Given the description of an element on the screen output the (x, y) to click on. 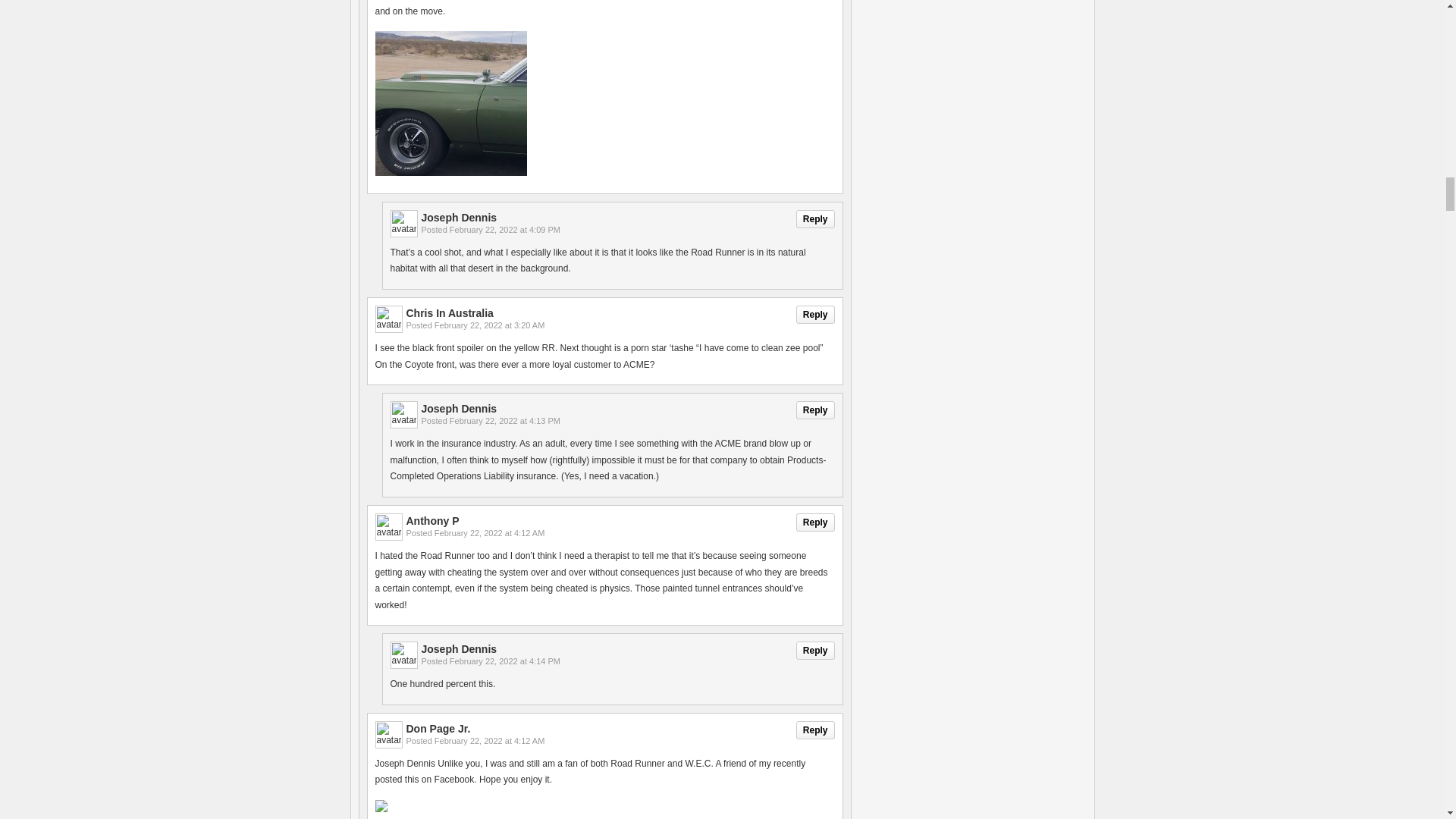
2022-02-22T04:12:35-08:00 (488, 740)
2022-02-22T04:12:30-08:00 (488, 532)
2022-02-22T03:20:55-08:00 (488, 325)
2022-02-22T16:13:10-08:00 (504, 420)
2022-02-22T16:14:00-08:00 (504, 660)
2022-02-22T16:09:33-08:00 (504, 229)
